Given the description of an element on the screen output the (x, y) to click on. 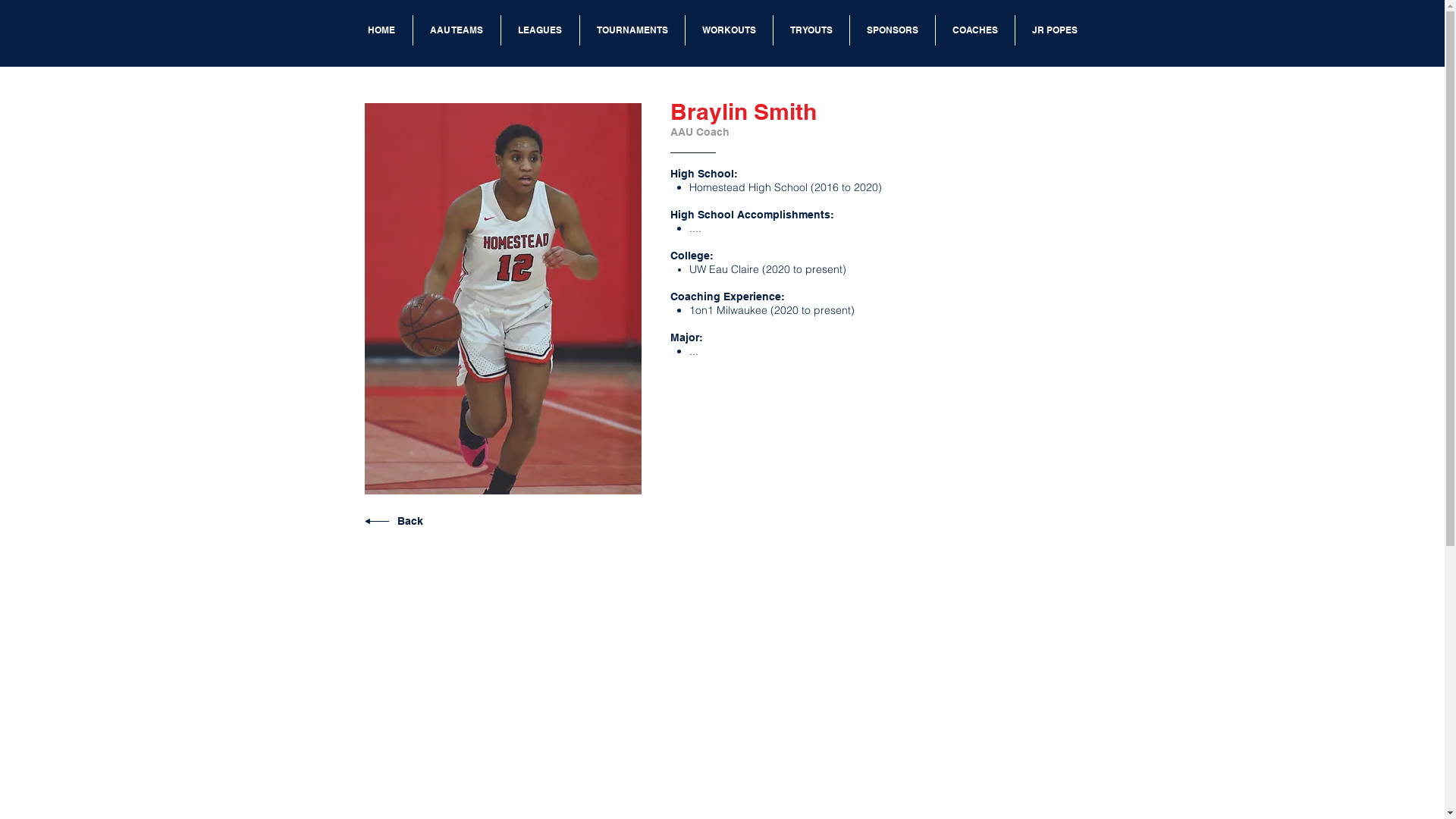
SPONSORS Element type: text (892, 30)
WORKOUTS Element type: text (727, 30)
JR POPES Element type: text (1054, 30)
TOURNAMENTS Element type: text (631, 30)
Back Element type: text (410, 520)
LEAGUES Element type: text (539, 30)
HOME Element type: text (380, 30)
AAU TEAMS Element type: text (456, 30)
TRYOUTS Element type: text (809, 30)
COACHES Element type: text (973, 30)
